Given the description of an element on the screen output the (x, y) to click on. 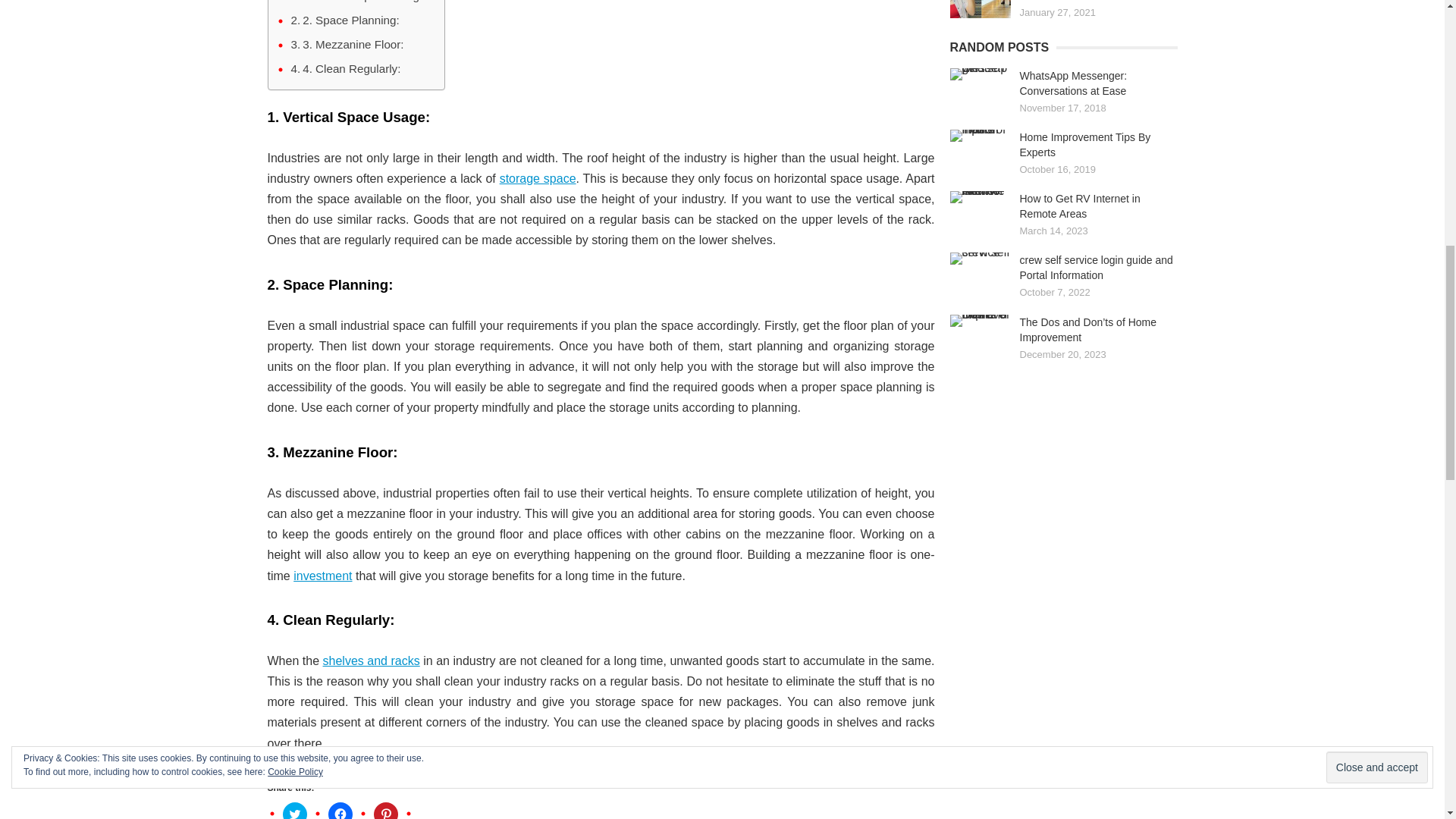
3. Mezzanine Floor: (347, 45)
1. Vertical Space Usage: (360, 2)
Click to share on Pinterest (384, 810)
2. Space Planning: (344, 20)
Click to share on Facebook (339, 810)
Click to share on Twitter (293, 810)
4. Clean Regularly: (346, 68)
